Given the description of an element on the screen output the (x, y) to click on. 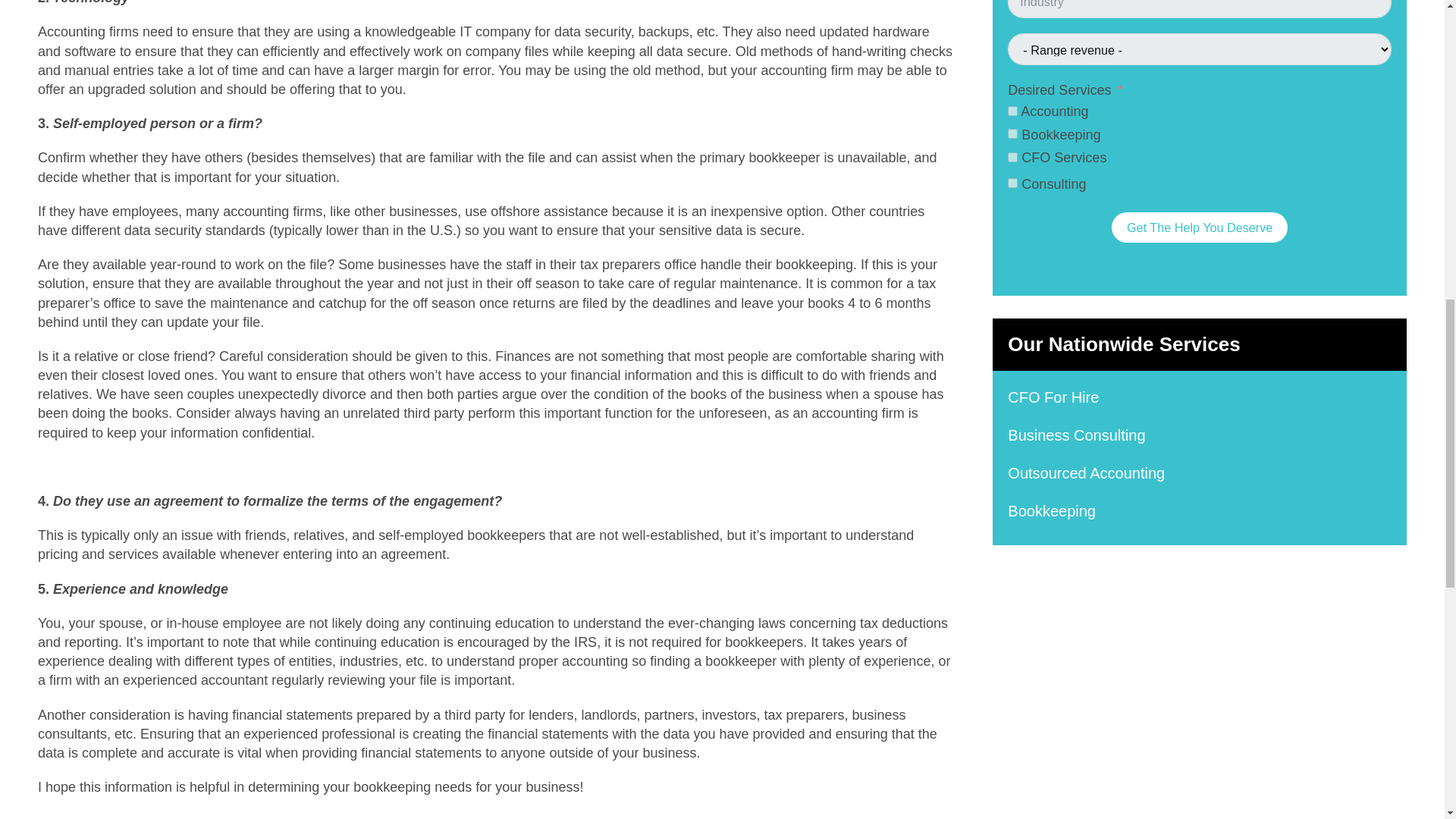
Get The Help You Deserve (1199, 227)
CFO For Hire (1199, 397)
Bookkeeping (1012, 133)
Bookkeeping (1199, 510)
Business Consulting (1199, 435)
Outsourced Accounting (1199, 473)
CFO Services (1012, 157)
Accounting (1012, 111)
Consulting (1012, 183)
